Given the description of an element on the screen output the (x, y) to click on. 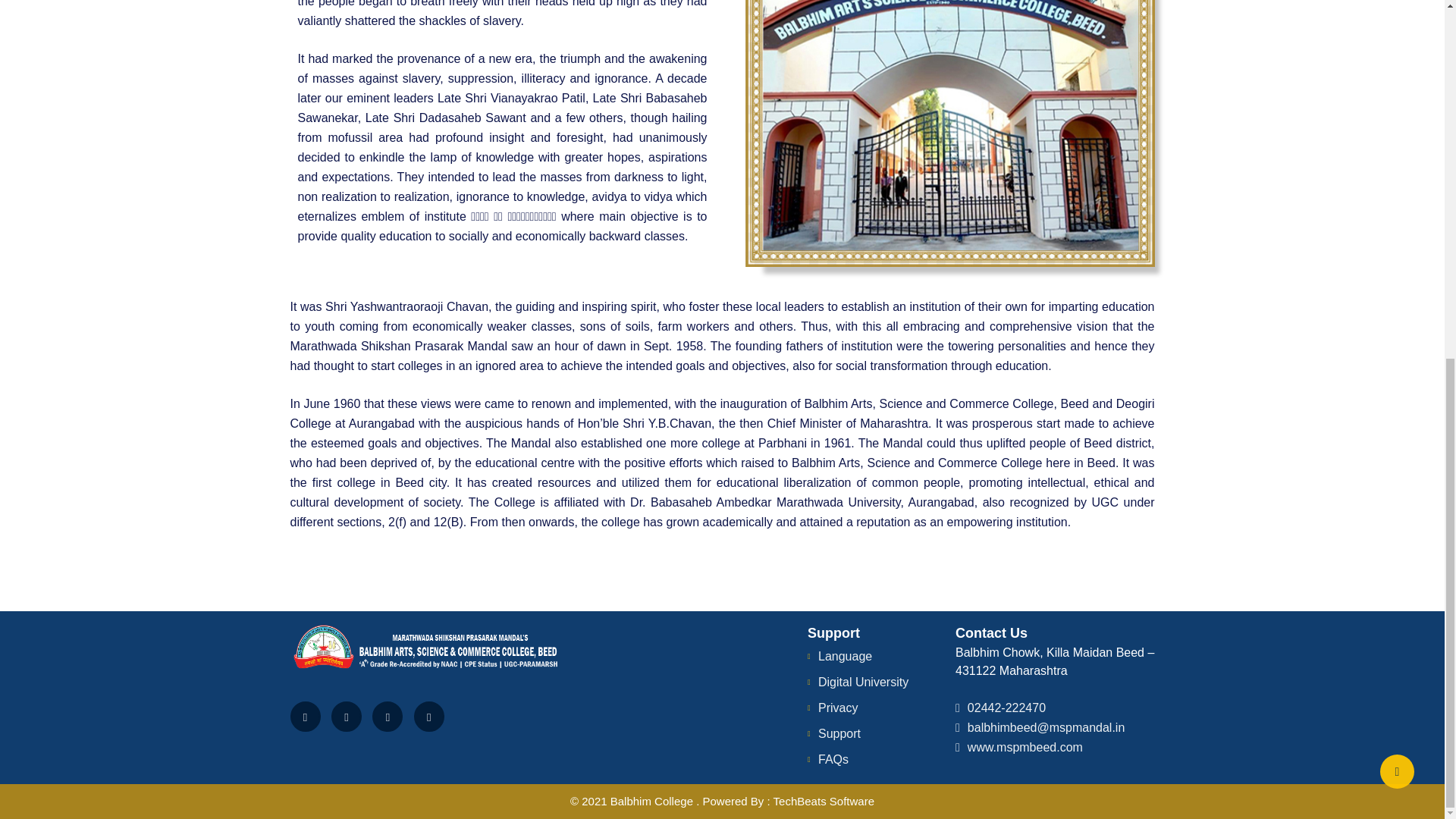
Facebook (304, 716)
Instagram (428, 716)
Twitter (346, 716)
Youtube (387, 716)
